Given the description of an element on the screen output the (x, y) to click on. 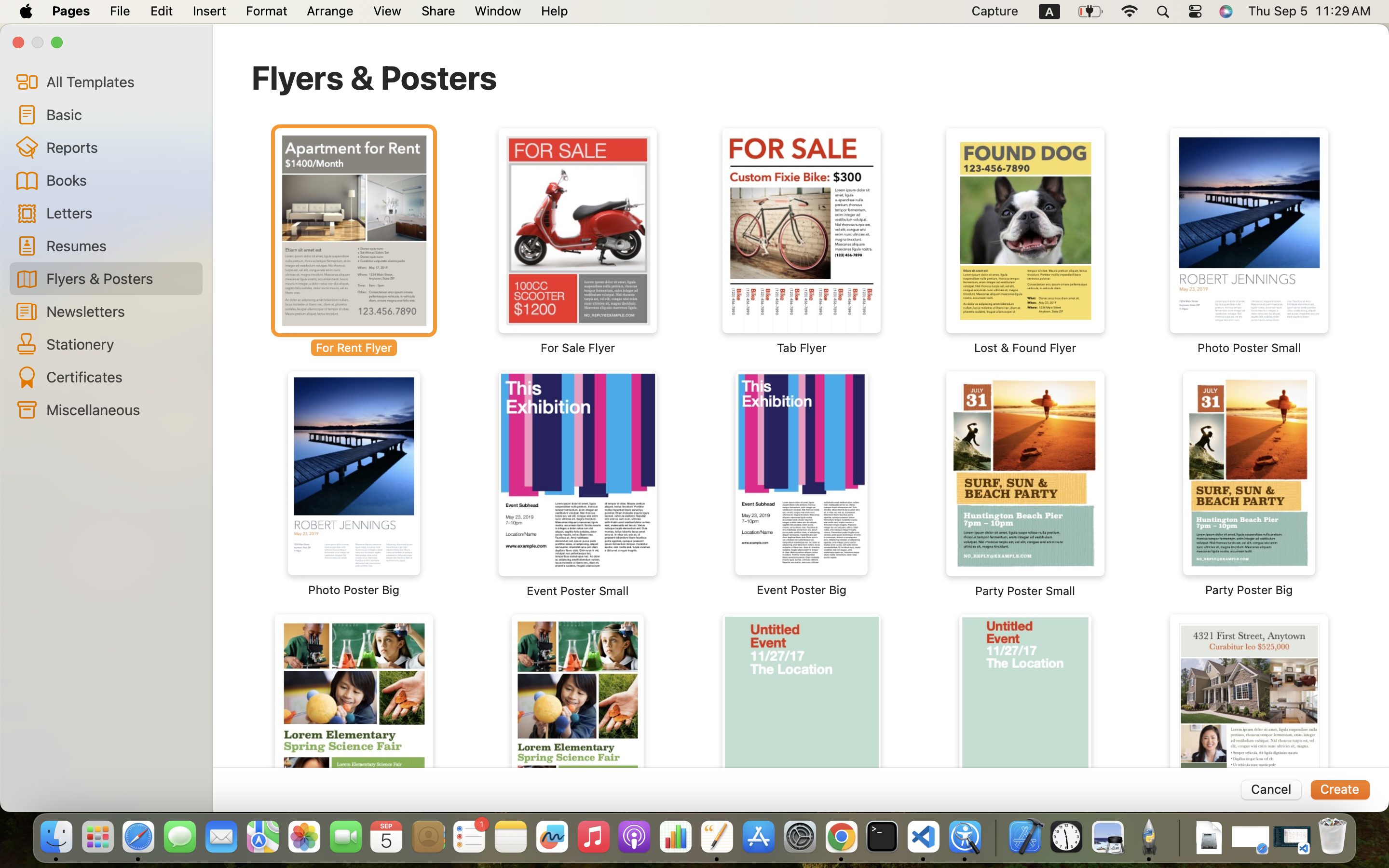
All Templates Element type: AXStaticText (120, 81)
Newsletters Element type: AXStaticText (120, 310)
